Given the description of an element on the screen output the (x, y) to click on. 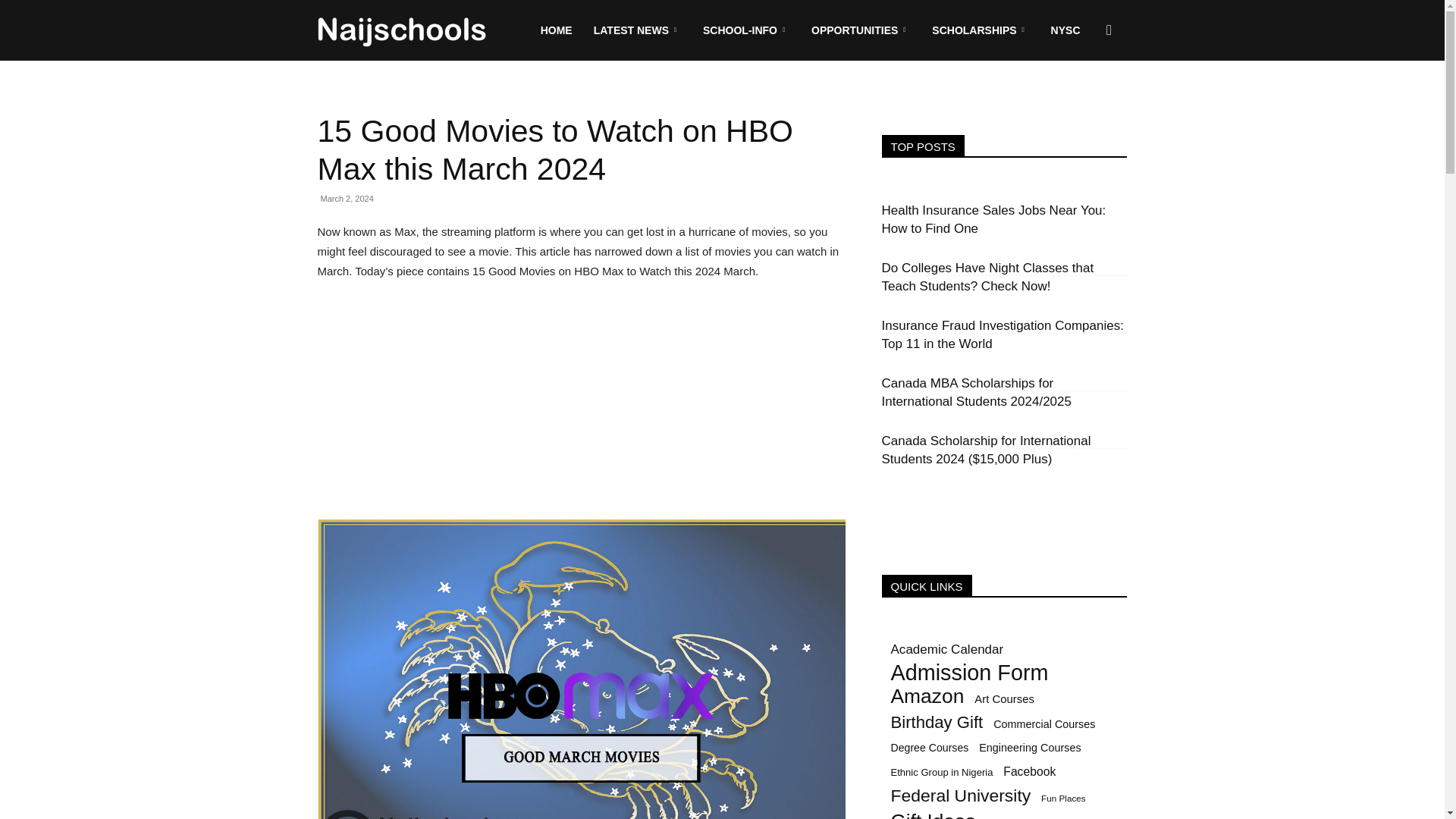
Search (1085, 102)
NAIJSCHOOLS (401, 30)
Advertisement (580, 407)
HOME (556, 30)
SCHOOL-INFO (746, 30)
Insurance Fraud Investigation Companies: Top 11 in the World (1001, 334)
Health Insurance Sales Jobs Near You: How to Find One (992, 219)
LATEST NEWS (638, 30)
